Given the description of an element on the screen output the (x, y) to click on. 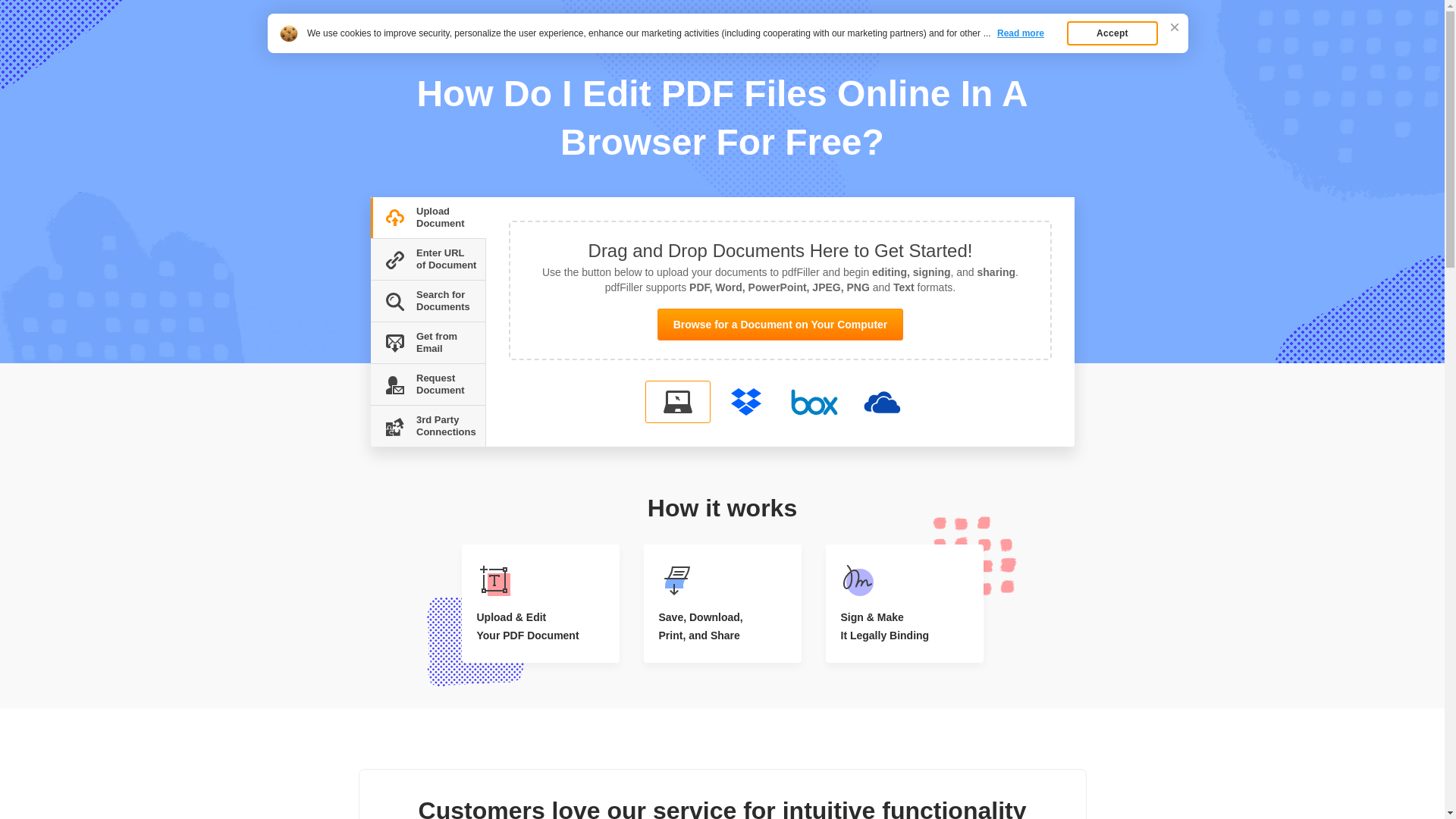
How Do I Edit PDF Files Online In A Browser For Free? (541, 48)
Online PDF Editing (431, 23)
FAQ (413, 48)
Home (380, 48)
